Given the description of an element on the screen output the (x, y) to click on. 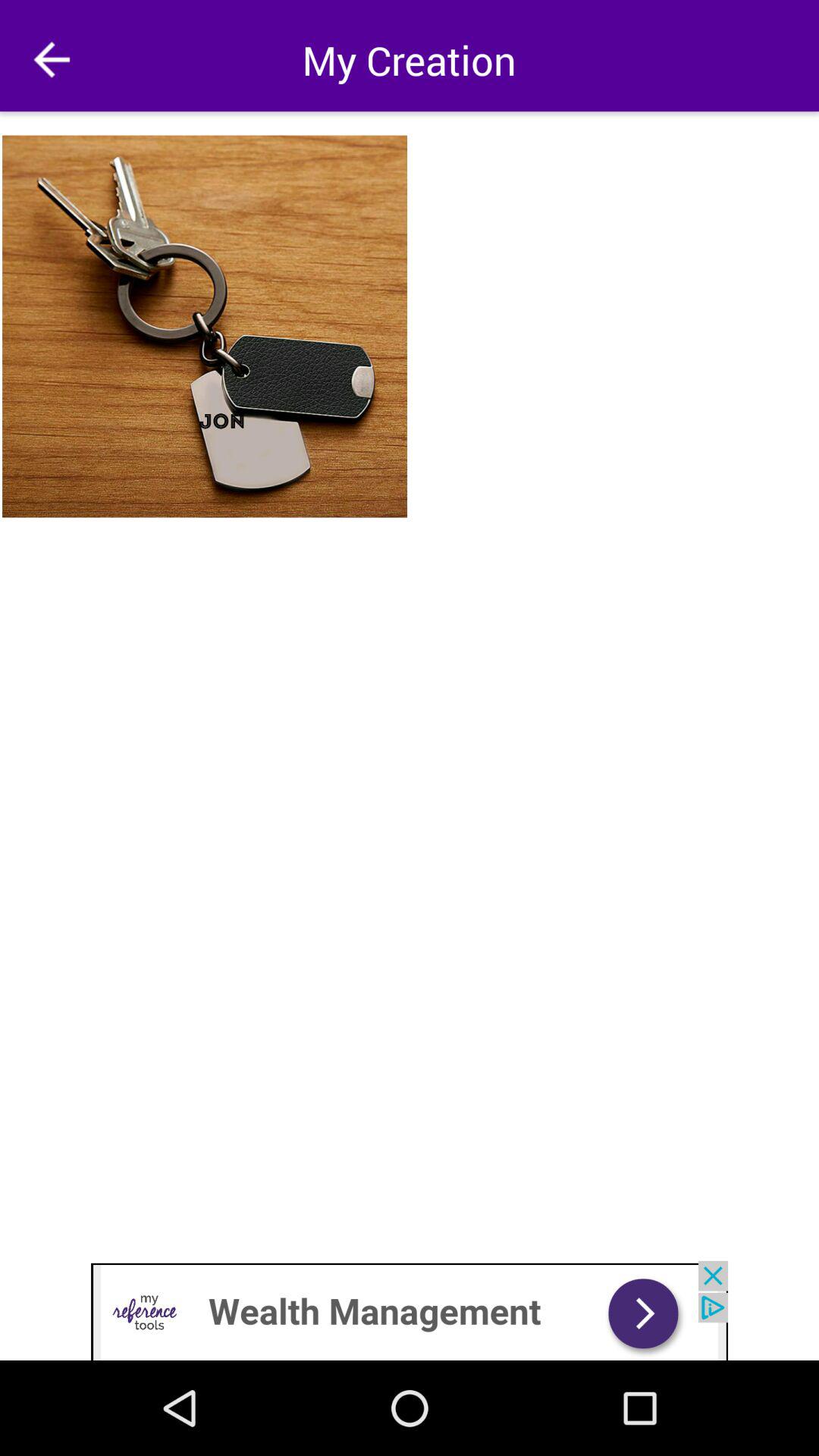
key image (205, 326)
